Given the description of an element on the screen output the (x, y) to click on. 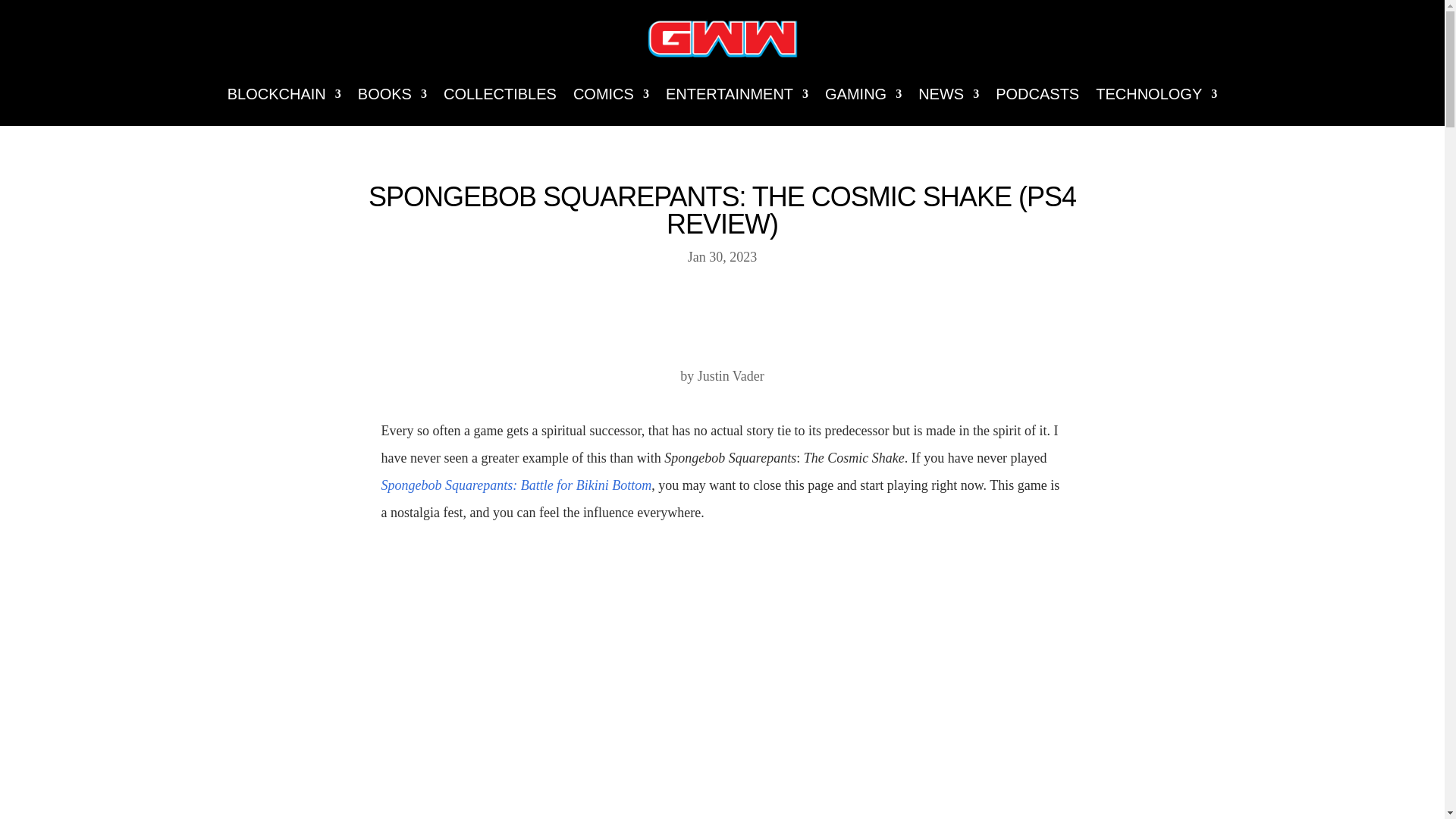
BOOKS (392, 94)
Justin Vader (730, 376)
PODCASTS (1036, 94)
ENTERTAINMENT (736, 94)
COMICS (611, 94)
GAMING (863, 94)
Posts by Justin Vader (730, 376)
TECHNOLOGY (1156, 94)
BLOCKCHAIN (283, 94)
COLLECTIBLES (500, 94)
